Given the description of an element on the screen output the (x, y) to click on. 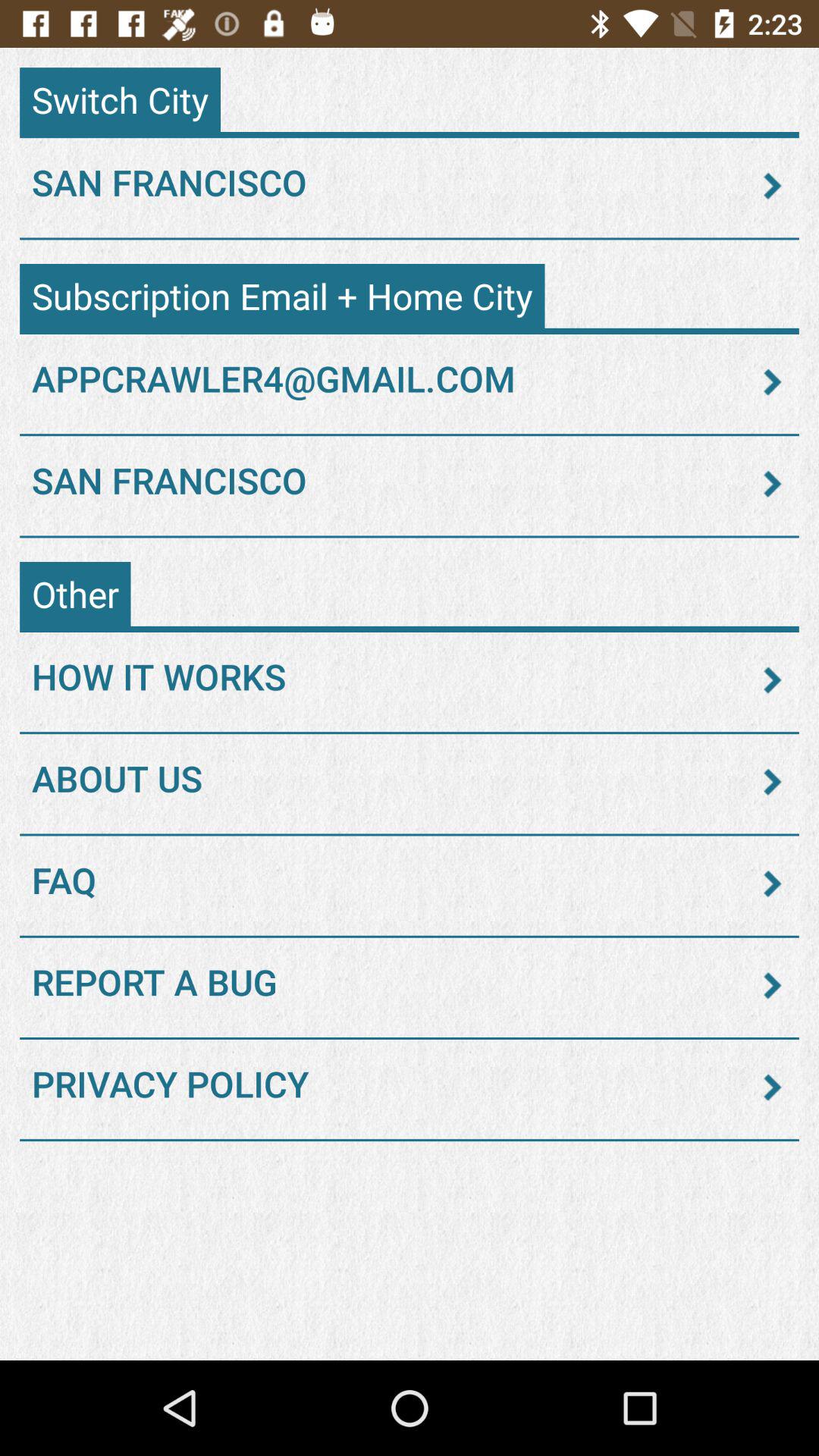
tap privacy policy icon (409, 1087)
